Given the description of an element on the screen output the (x, y) to click on. 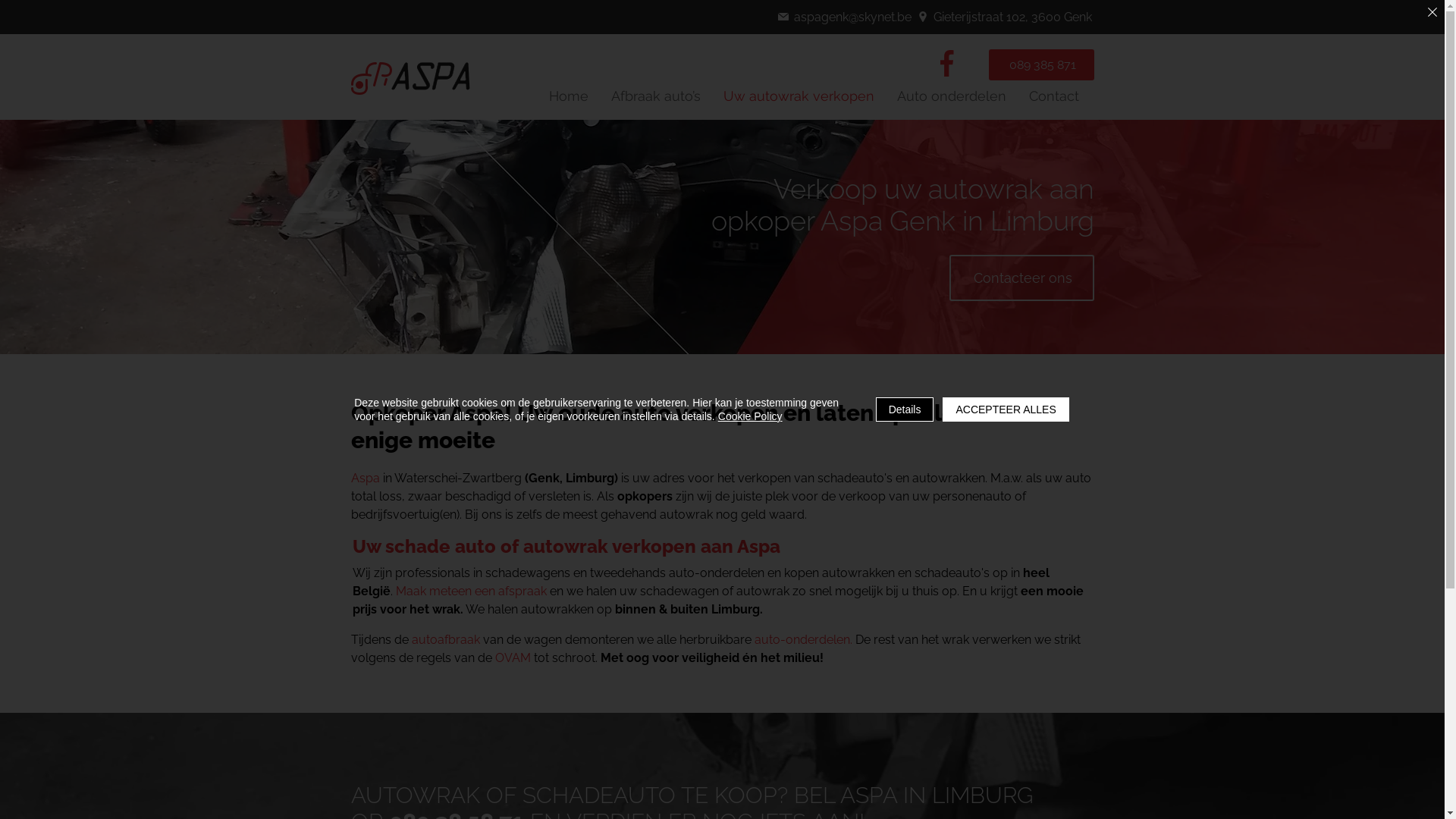
Details Element type: text (904, 409)
Auto onderdelen Element type: text (950, 95)
Uw autowrak verkopen Element type: text (798, 95)
Cookie Policy Element type: text (750, 416)
auto-onderdelen Element type: text (801, 639)
ACCEPTEER ALLES Element type: text (1005, 409)
Aspa Element type: text (364, 477)
autoafbraak Element type: text (445, 639)
OVAM Element type: text (512, 657)
Gieterijstraat 102, 3600 Genk Element type: text (1005, 16)
Maak meteen een afspraak Element type: text (470, 590)
Home Element type: text (568, 95)
Contact Element type: text (1052, 95)
aspagenk@skynet.be Element type: text (845, 16)
Contacteer ons Element type: text (1021, 277)
089 385 871 Element type: text (1041, 64)
